Given the description of an element on the screen output the (x, y) to click on. 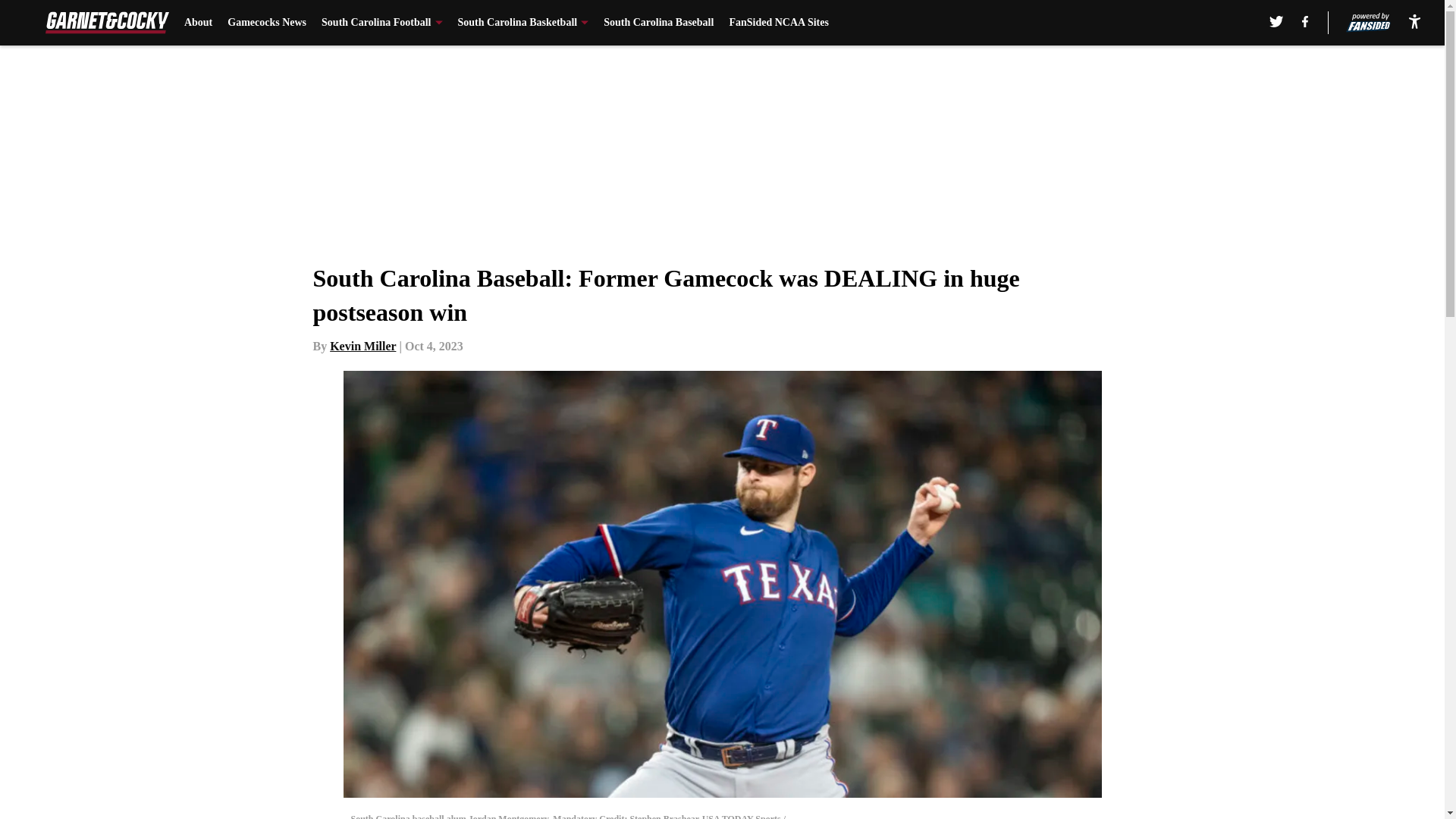
Gamecocks News (266, 22)
Kevin Miller (363, 345)
South Carolina Baseball (658, 22)
FanSided NCAA Sites (778, 22)
About (198, 22)
